Given the description of an element on the screen output the (x, y) to click on. 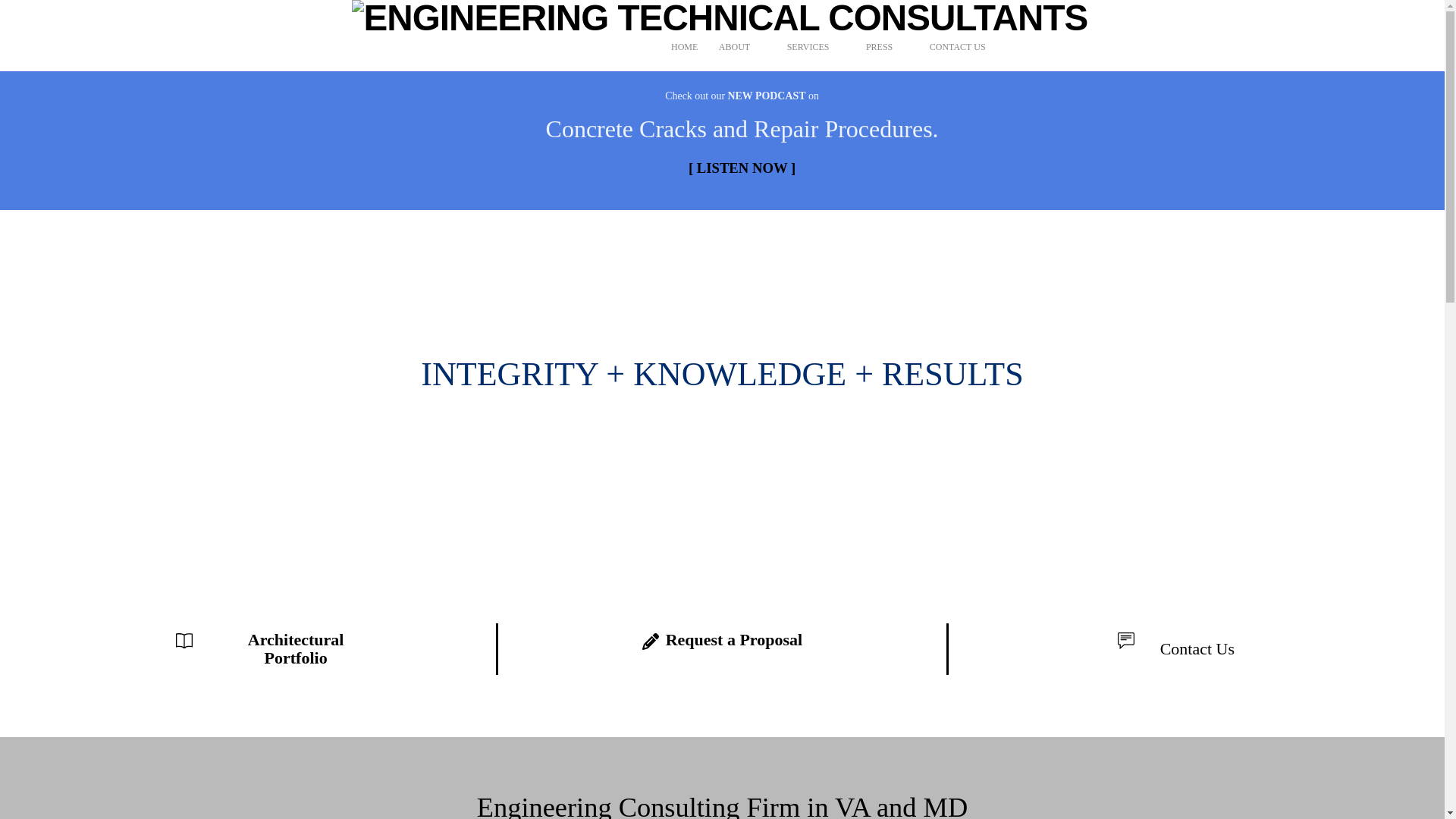
CONTACT US (971, 46)
Engineering Technical Consultants (719, 18)
SERVICES (822, 46)
HOME (690, 46)
ABOUT (747, 46)
PRESS (892, 46)
